Given the description of an element on the screen output the (x, y) to click on. 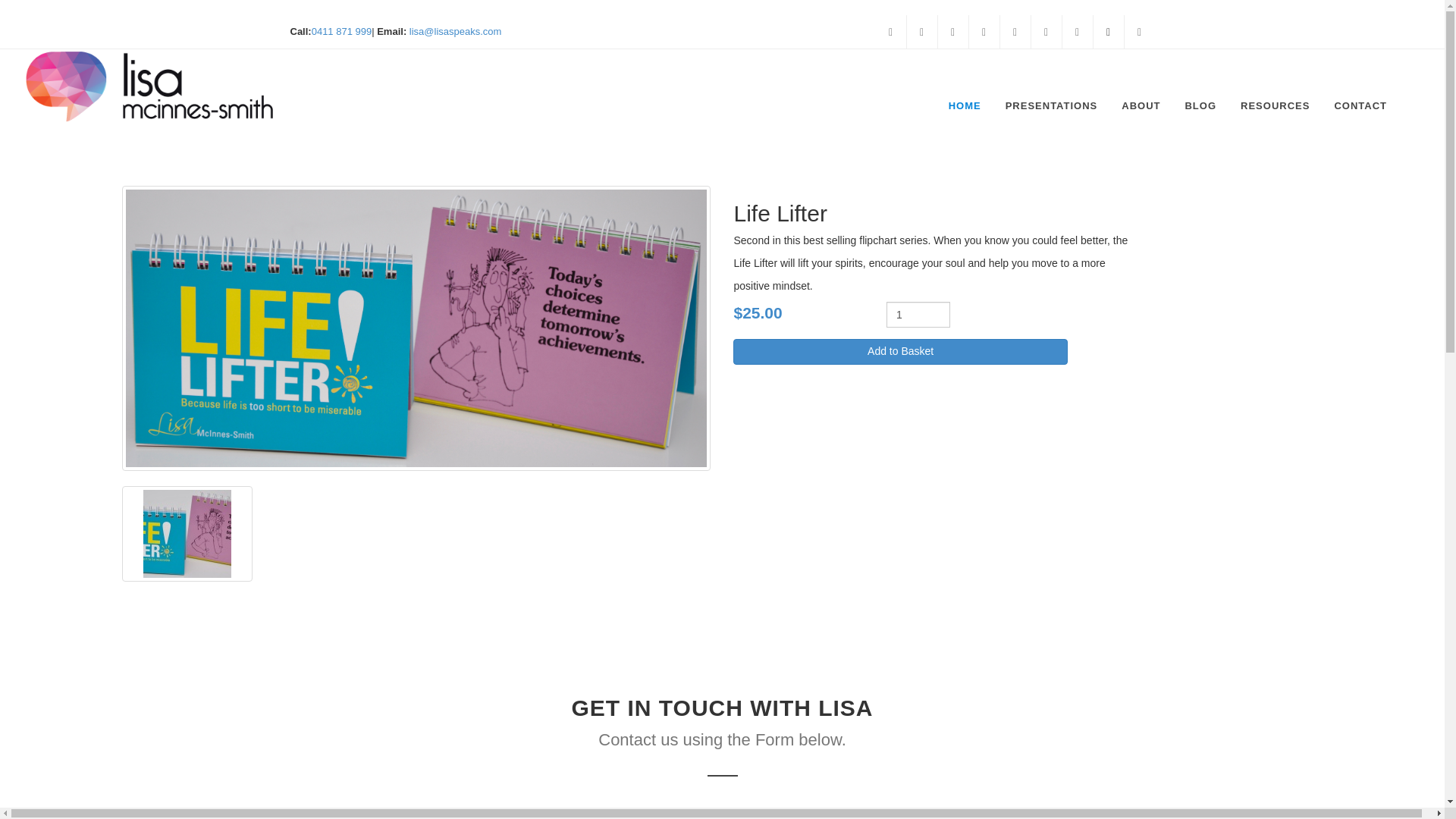
1 (918, 314)
PRESENTATIONS (1051, 87)
0411 871 999 (341, 30)
RESOURCES (1274, 87)
CONTACT (1359, 87)
